Given the description of an element on the screen output the (x, y) to click on. 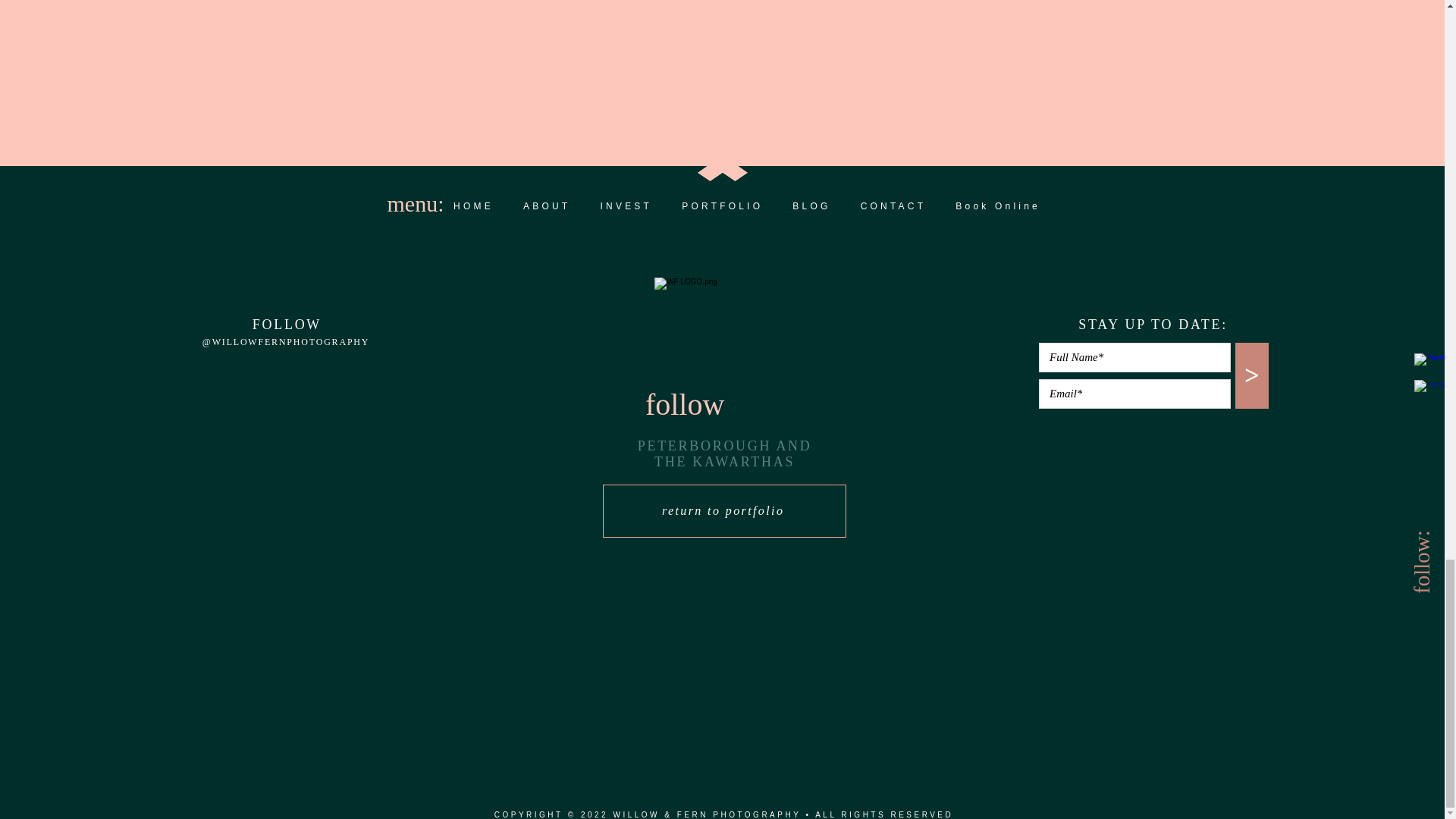
Book Online (997, 206)
INVEST (625, 206)
CONTACT (892, 206)
HOME (473, 206)
PORTFOLIO (721, 206)
return to portfolio (723, 510)
ABOUT (546, 206)
BLOG (811, 206)
